Given the description of an element on the screen output the (x, y) to click on. 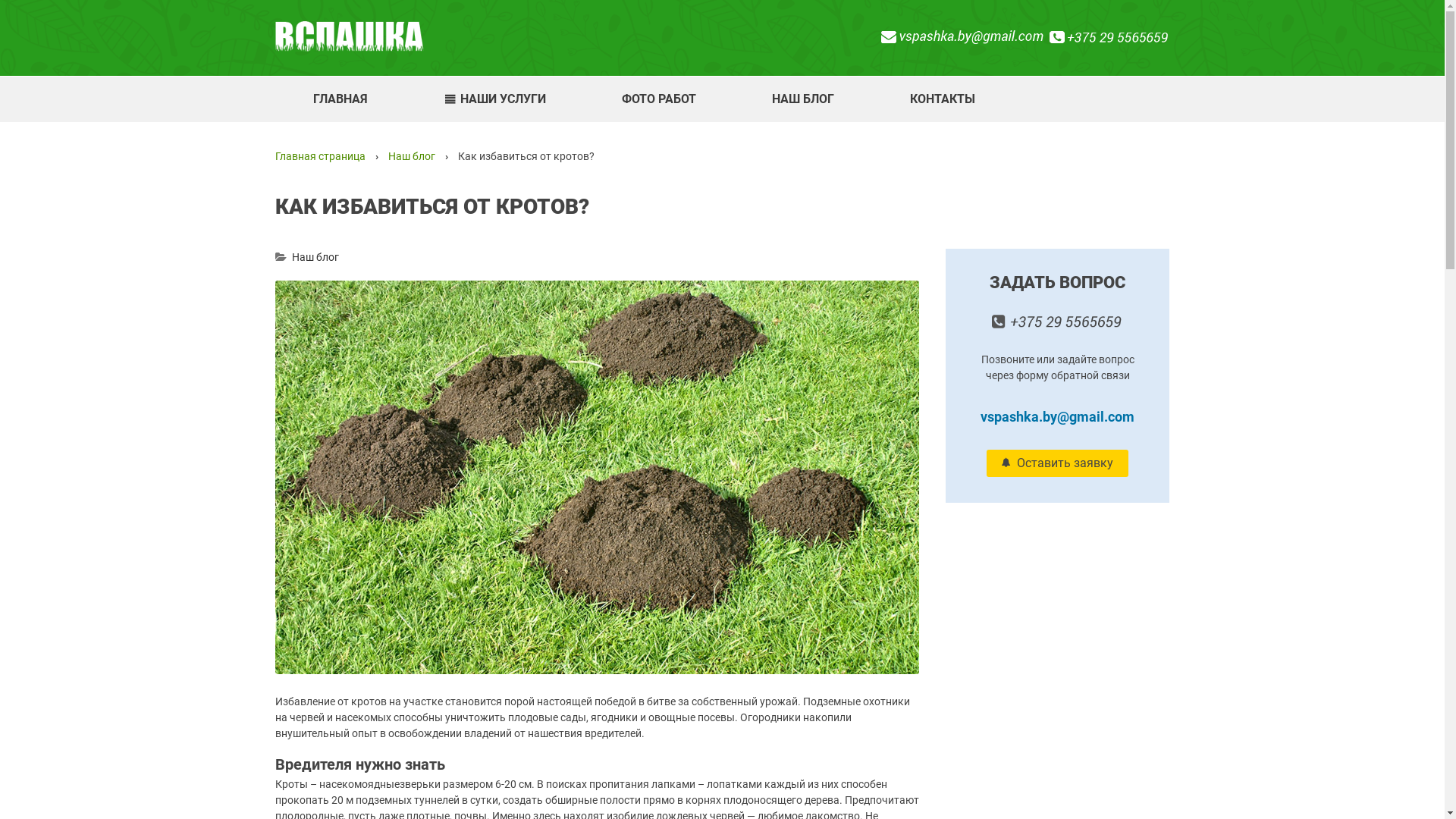
vspashka.by Element type: hover (348, 36)
